Given the description of an element on the screen output the (x, y) to click on. 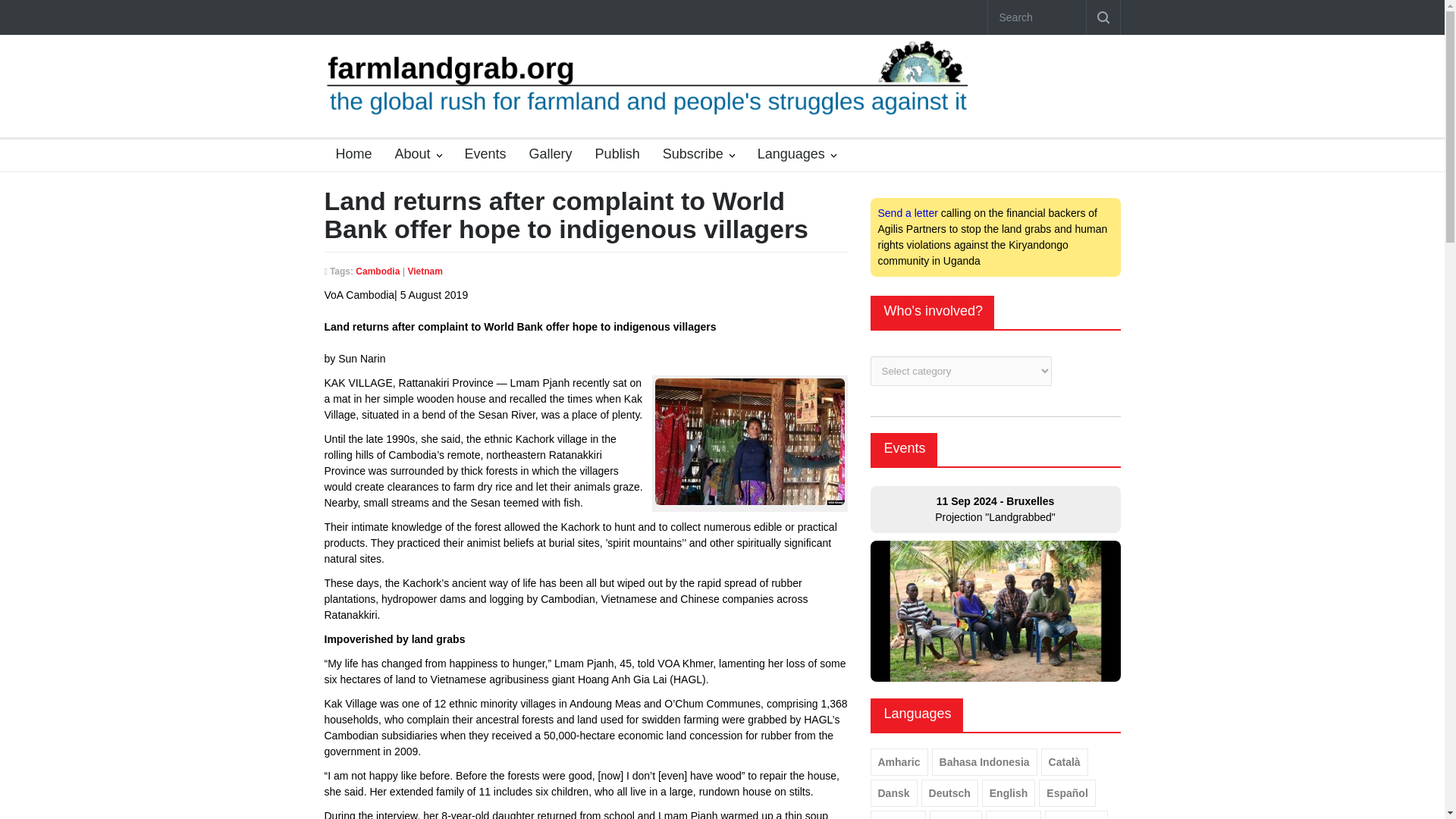
Subscribe (697, 155)
Categories (796, 155)
About (418, 155)
Languages (796, 155)
Home (348, 155)
Vietnam (424, 271)
Events (479, 155)
Amharic (899, 761)
Publish (611, 155)
Cambodia (376, 271)
Gallery (545, 155)
Events (904, 447)
Bahasa Indonesia (983, 761)
Send a letter (907, 213)
